Given the description of an element on the screen output the (x, y) to click on. 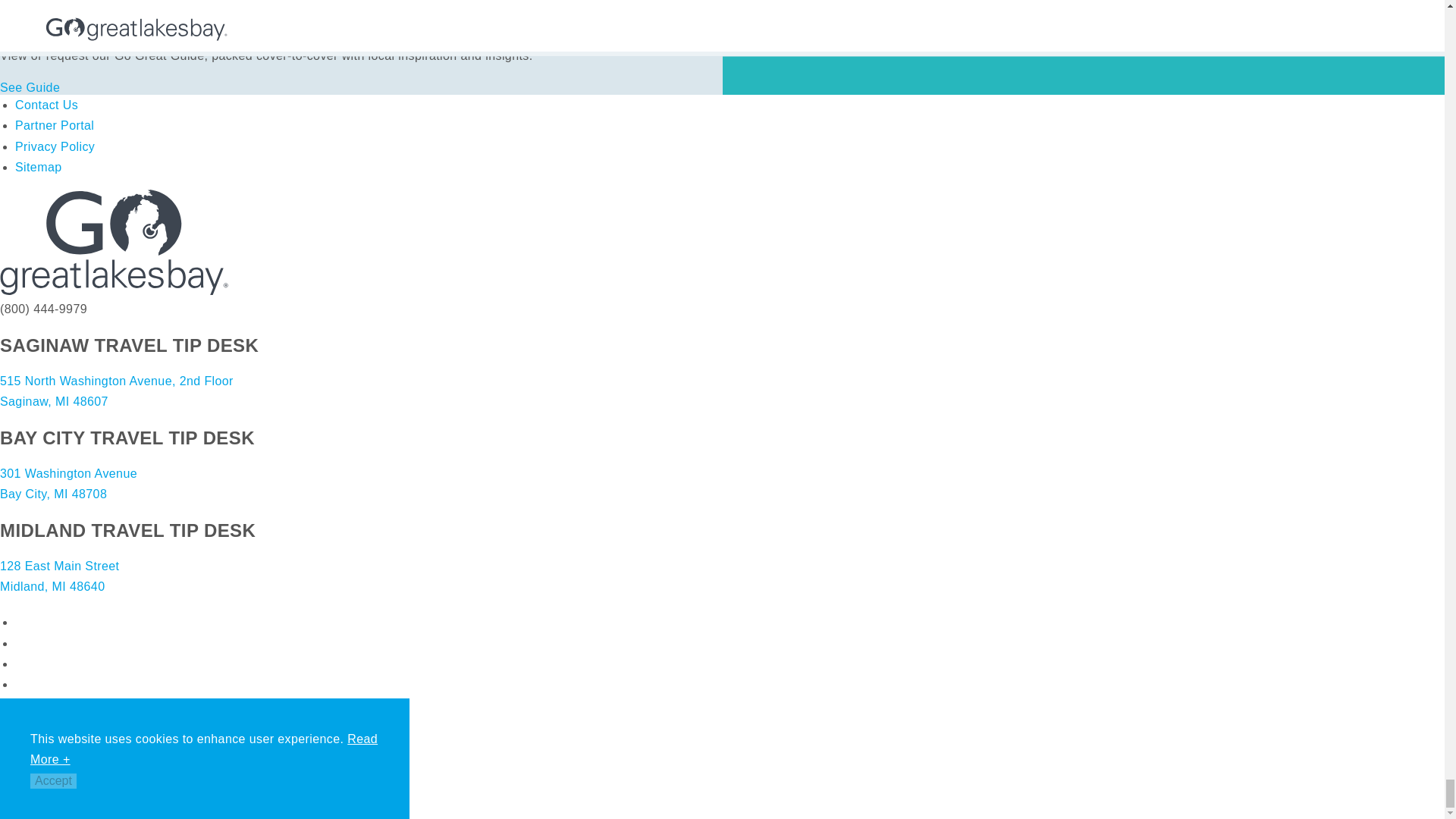
Lockup (114, 242)
